Given the description of an element on the screen output the (x, y) to click on. 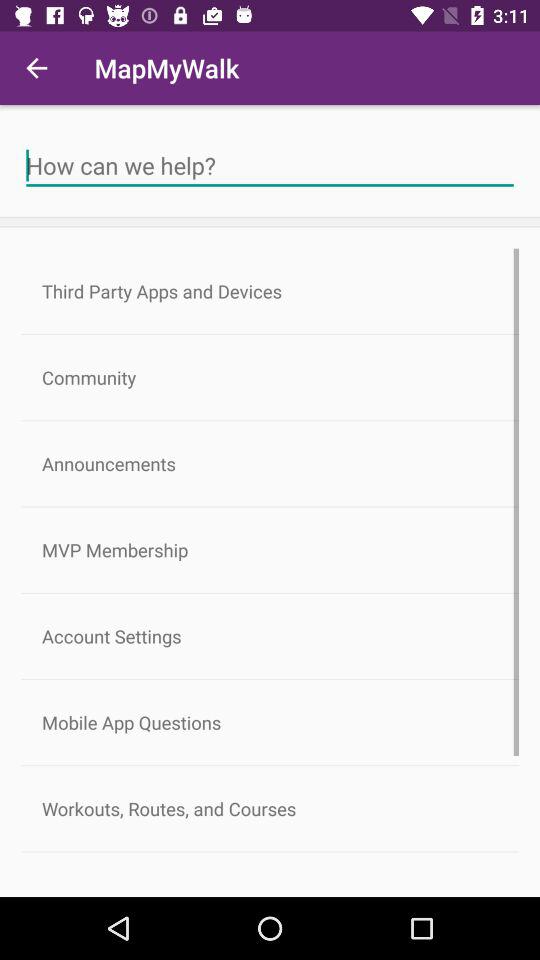
scroll until announcements item (269, 463)
